Given the description of an element on the screen output the (x, y) to click on. 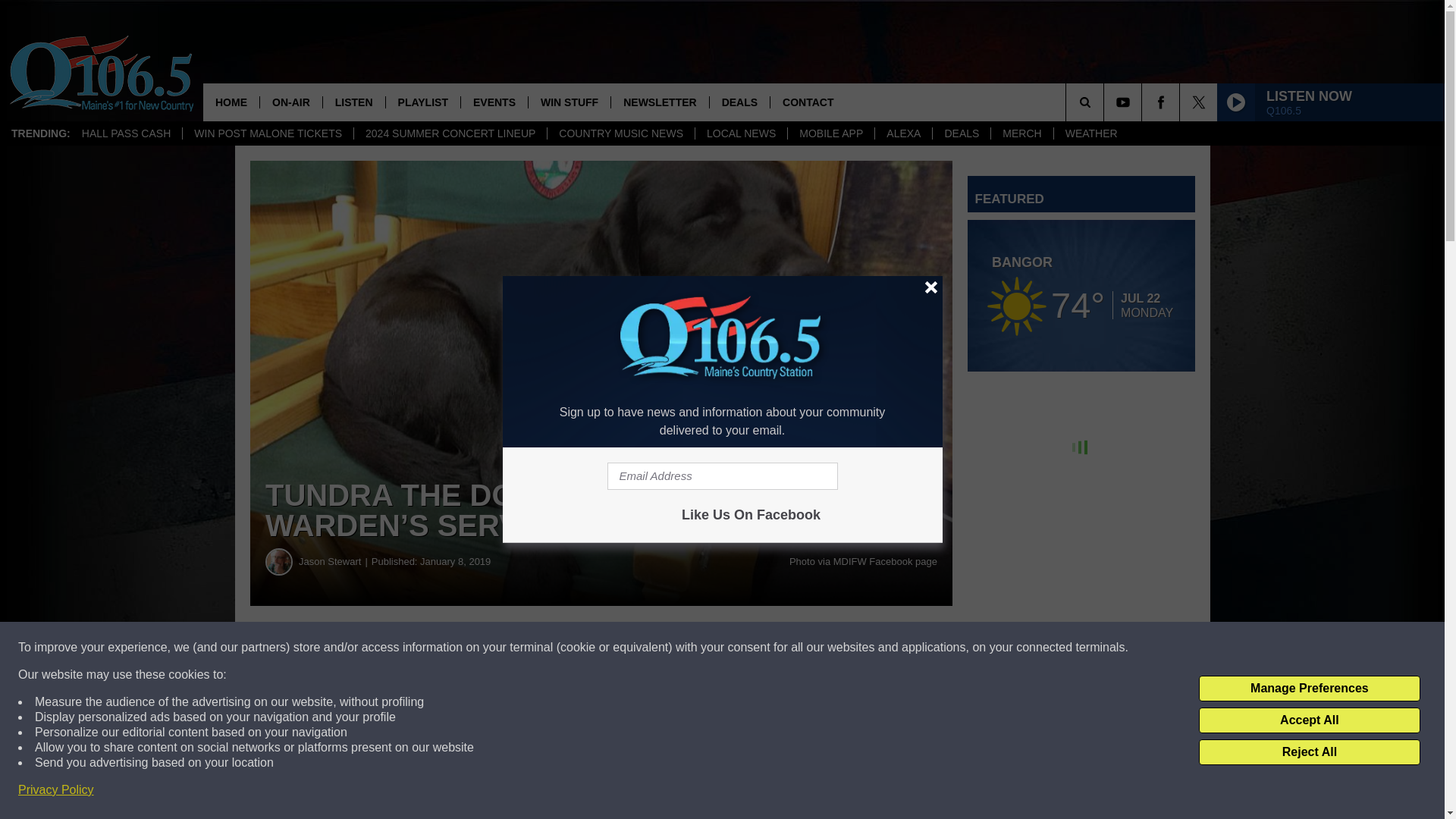
Reject All (1309, 751)
DEALS (960, 133)
MERCH (1021, 133)
SEARCH (1106, 102)
WIN POST MALONE TICKETS (267, 133)
Manage Preferences (1309, 688)
Accept All (1309, 720)
LISTEN (353, 102)
COUNTRY MUSIC NEWS (620, 133)
MOBILE APP (831, 133)
Bangor Weather (1081, 295)
WEATHER (1090, 133)
ALEXA (903, 133)
EVENTS (493, 102)
WIN STUFF (568, 102)
